Given the description of an element on the screen output the (x, y) to click on. 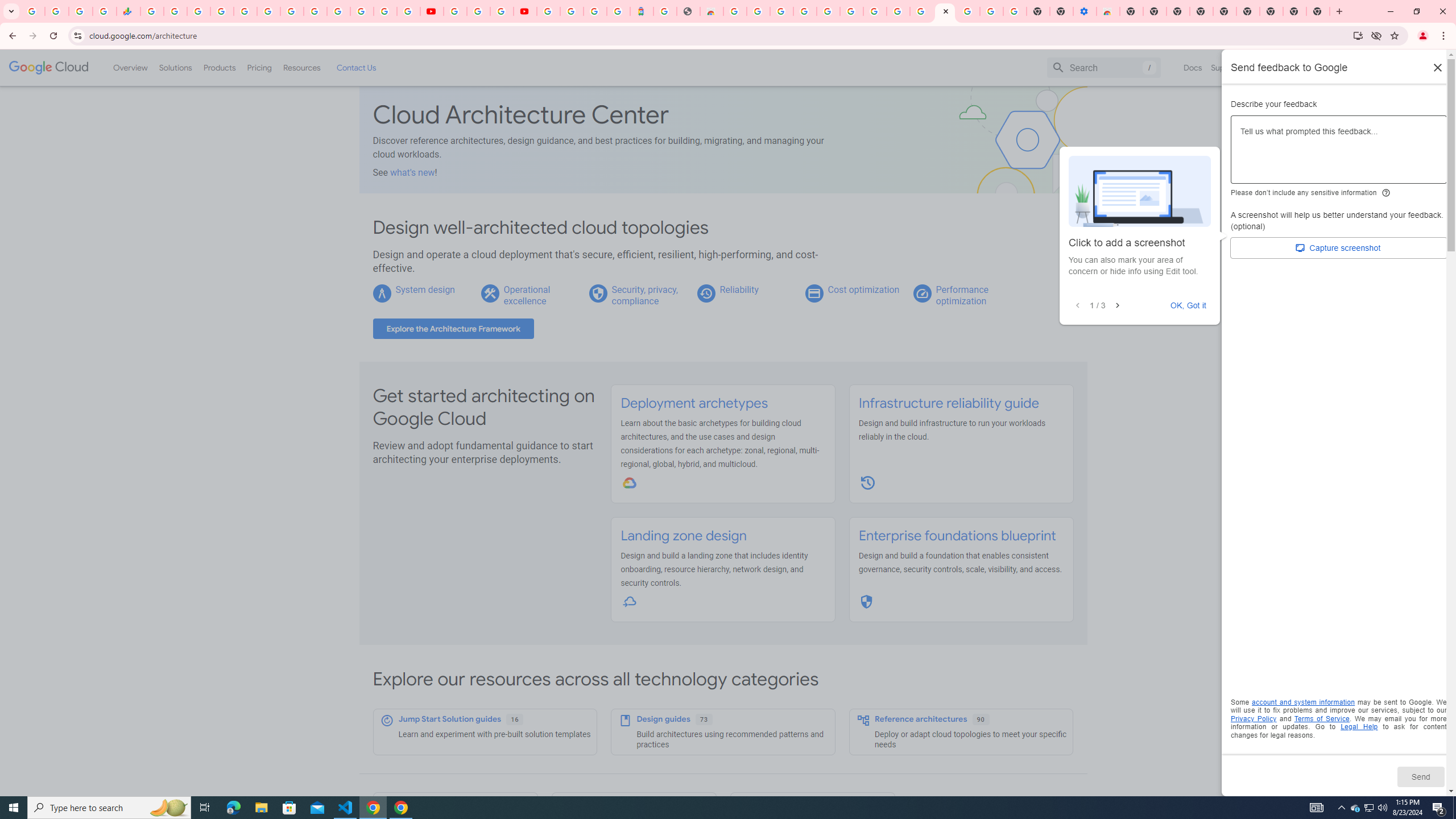
Start free (1405, 67)
Support (1225, 67)
Next (1117, 305)
Sign in - Google Accounts (547, 11)
OK, Got it (1188, 305)
Create your Google Account (501, 11)
Browse the Google Chrome Community - Google Chrome Community (921, 11)
English (1288, 67)
